Given the description of an element on the screen output the (x, y) to click on. 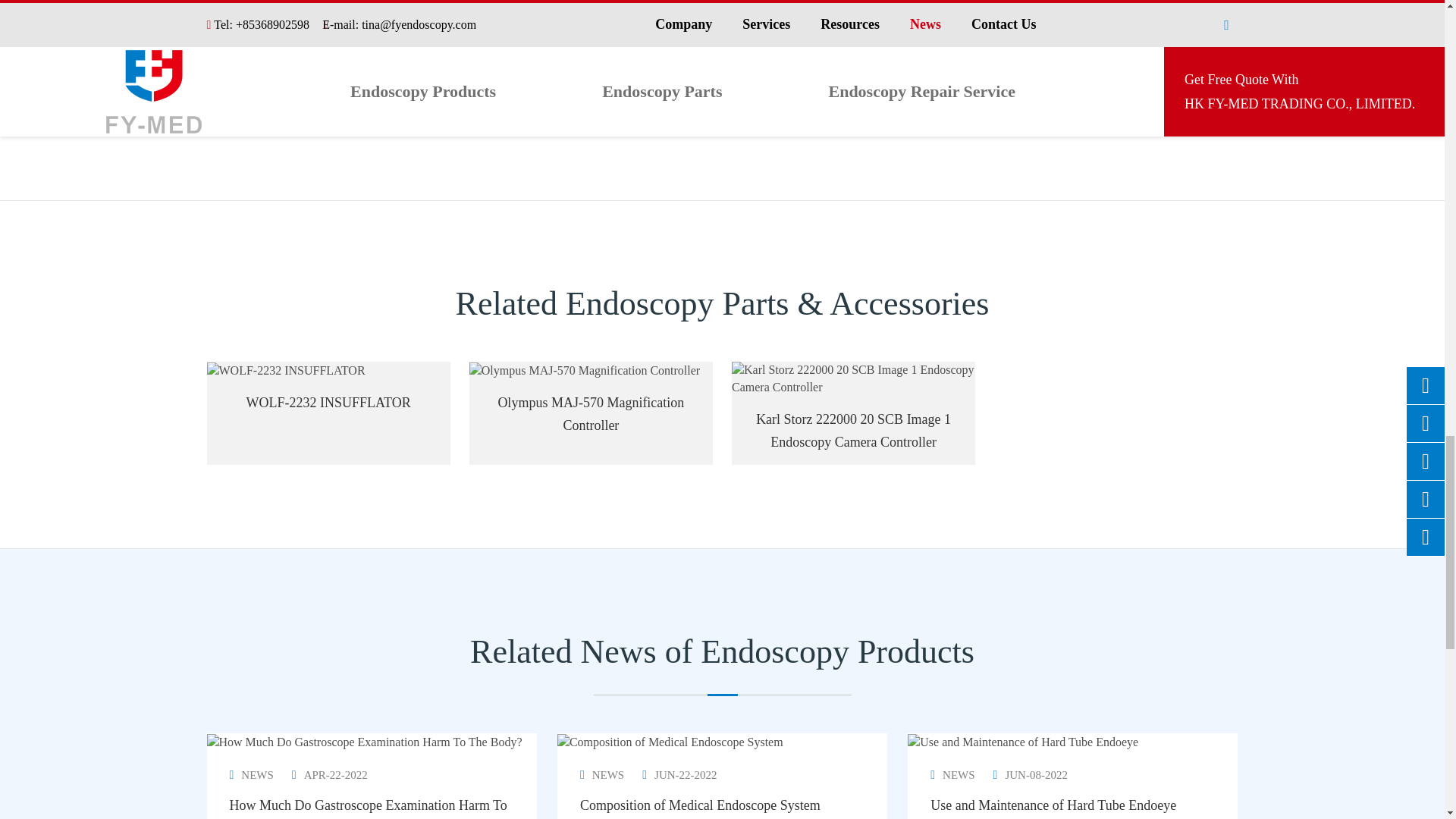
Welch ALLYN PROXENON 350 Surgical Illuminator (327, 24)
Olympus MAJ-570 Magnification Controller (584, 371)
WOLF-2232 INSUFFLATOR (285, 371)
Composition of Medical Endoscope System (670, 742)
Wolf 8558.24 Endoscope Connected Valve (590, 24)
How Much Do Gastroscope Examination Harm To The Body? (363, 742)
Use and Maintenance of Hard Tube Endoeye (1022, 742)
Karl Storz 222000 20 SCB Image 1 Endoscopy Camera Controller (853, 378)
